Given the description of an element on the screen output the (x, y) to click on. 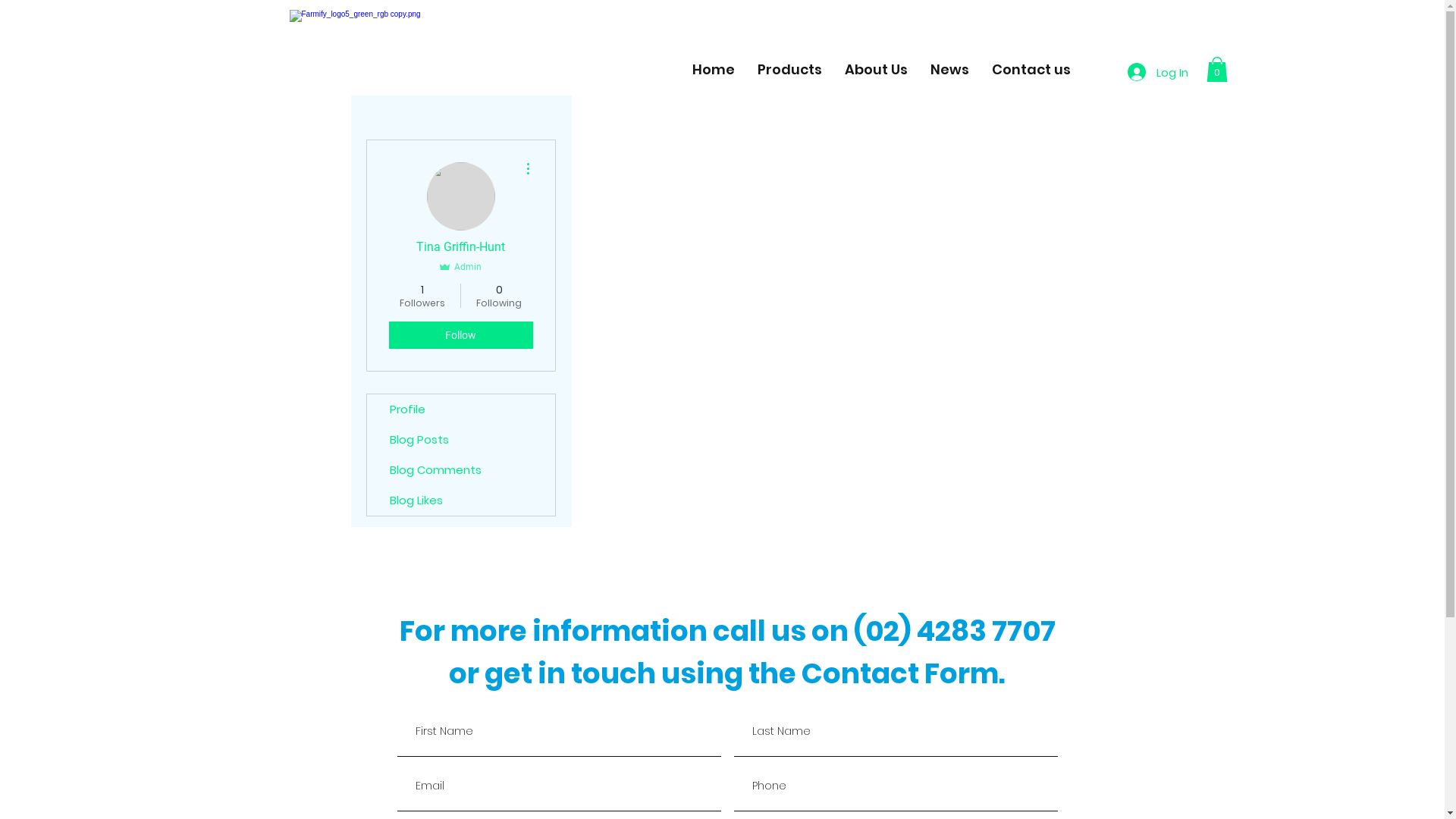
Profile Element type: text (461, 409)
0
Following Element type: text (499, 295)
Log In Element type: text (1157, 71)
0 Element type: text (1215, 68)
News Element type: text (949, 69)
Follow Element type: text (460, 334)
Blog Likes Element type: text (461, 500)
1
Followers Element type: text (421, 295)
About Us Element type: text (875, 69)
Products Element type: text (789, 69)
Home Element type: text (713, 69)
Blog Posts Element type: text (461, 439)
Blog Comments Element type: text (461, 470)
Contact us Element type: text (1030, 69)
